Given the description of an element on the screen output the (x, y) to click on. 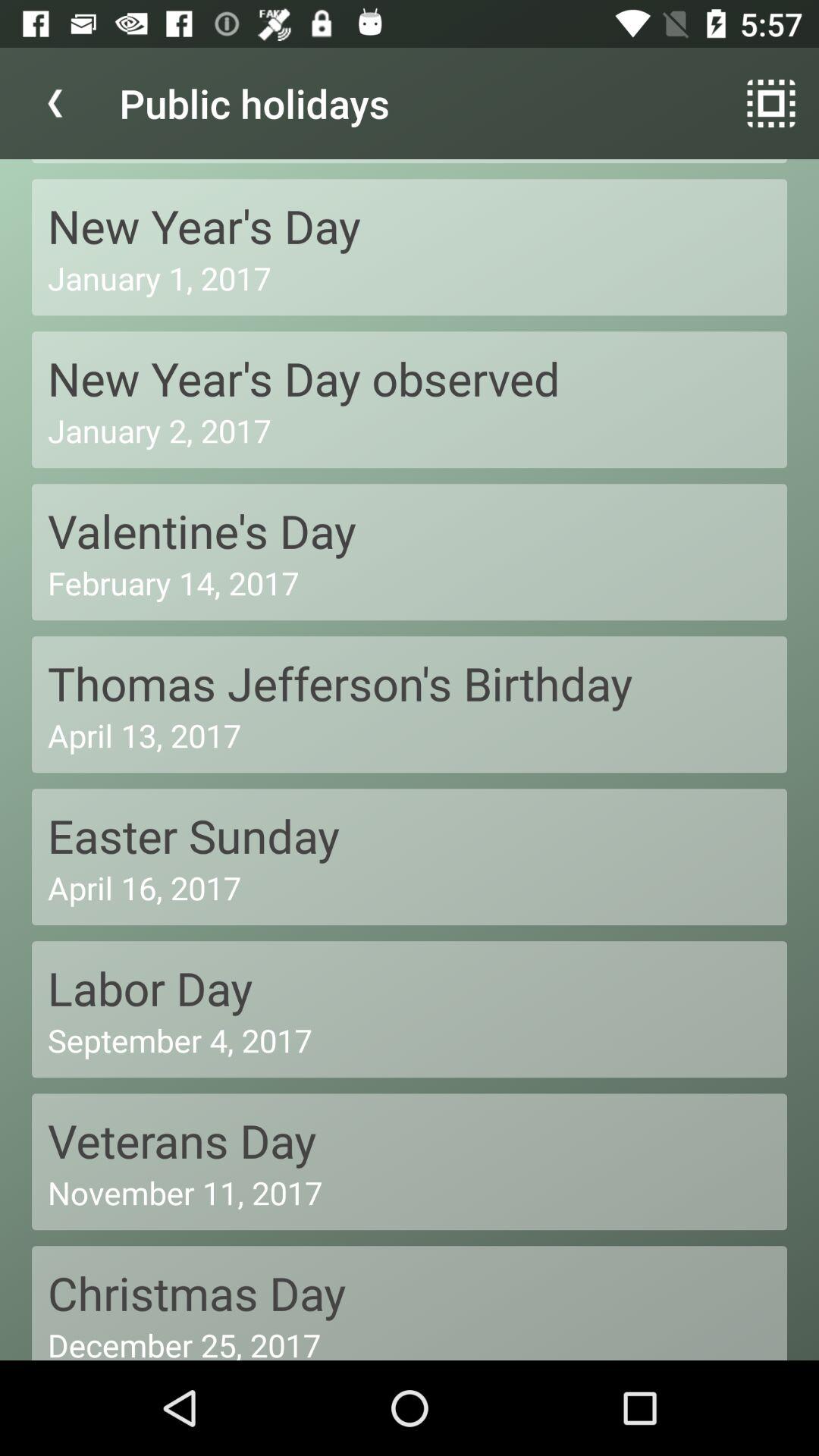
turn off february 14, 2017 item (409, 582)
